Given the description of an element on the screen output the (x, y) to click on. 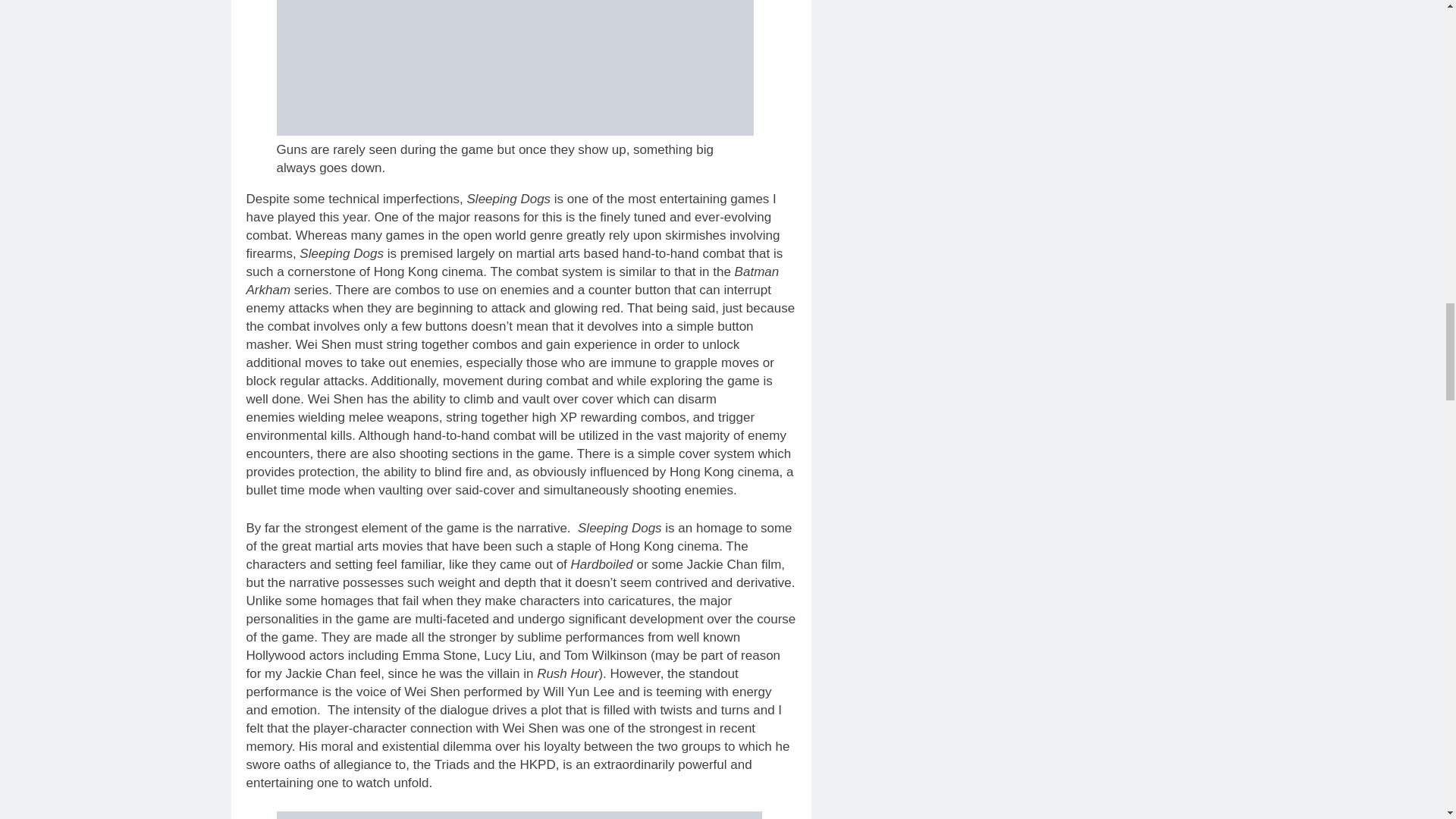
sleeping dogs 2222 (514, 67)
